Given the description of an element on the screen output the (x, y) to click on. 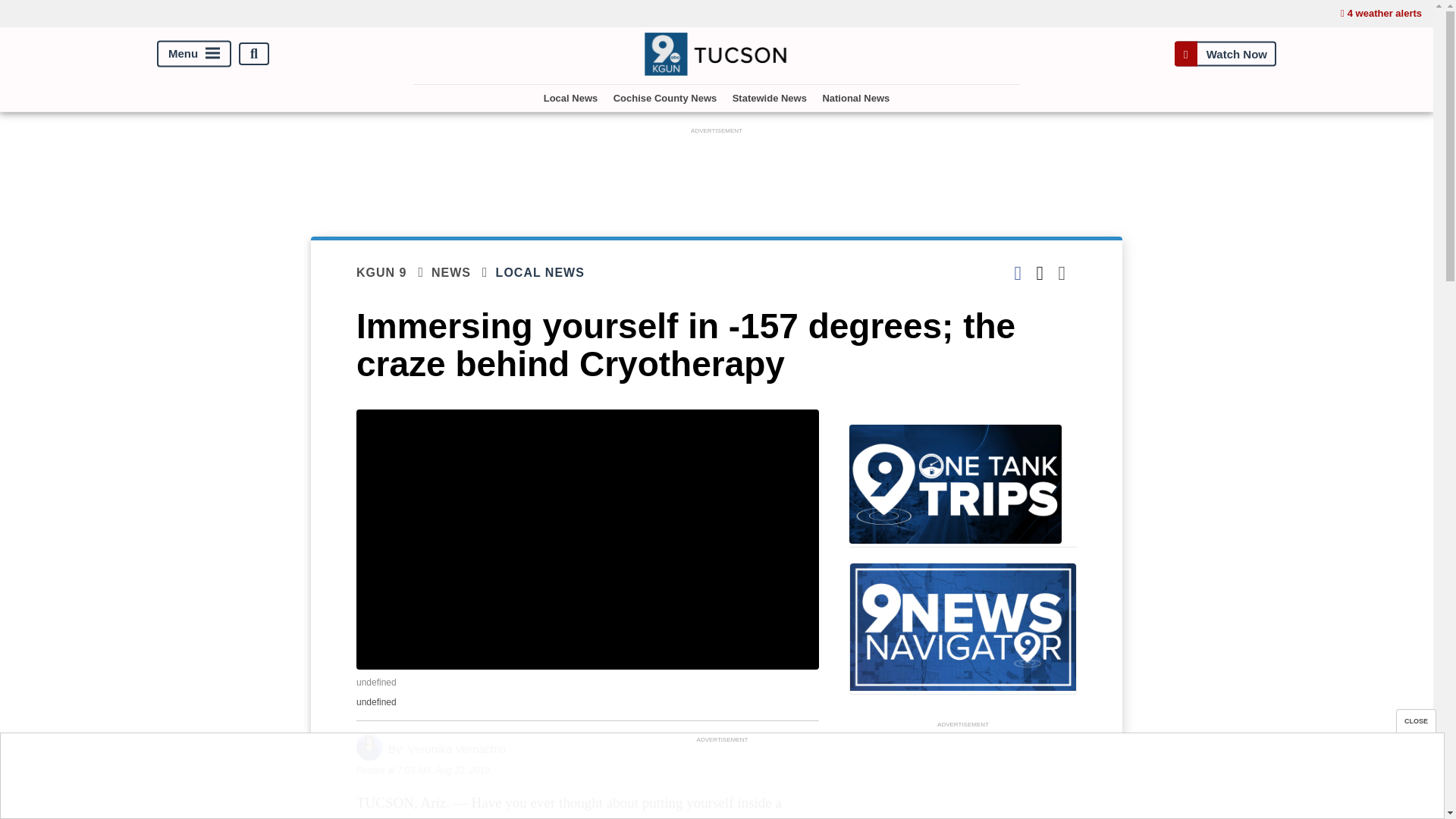
Watch Now (1224, 53)
3rd party ad content (716, 172)
3rd party ad content (962, 775)
Menu (194, 53)
3rd party ad content (721, 780)
